Given the description of an element on the screen output the (x, y) to click on. 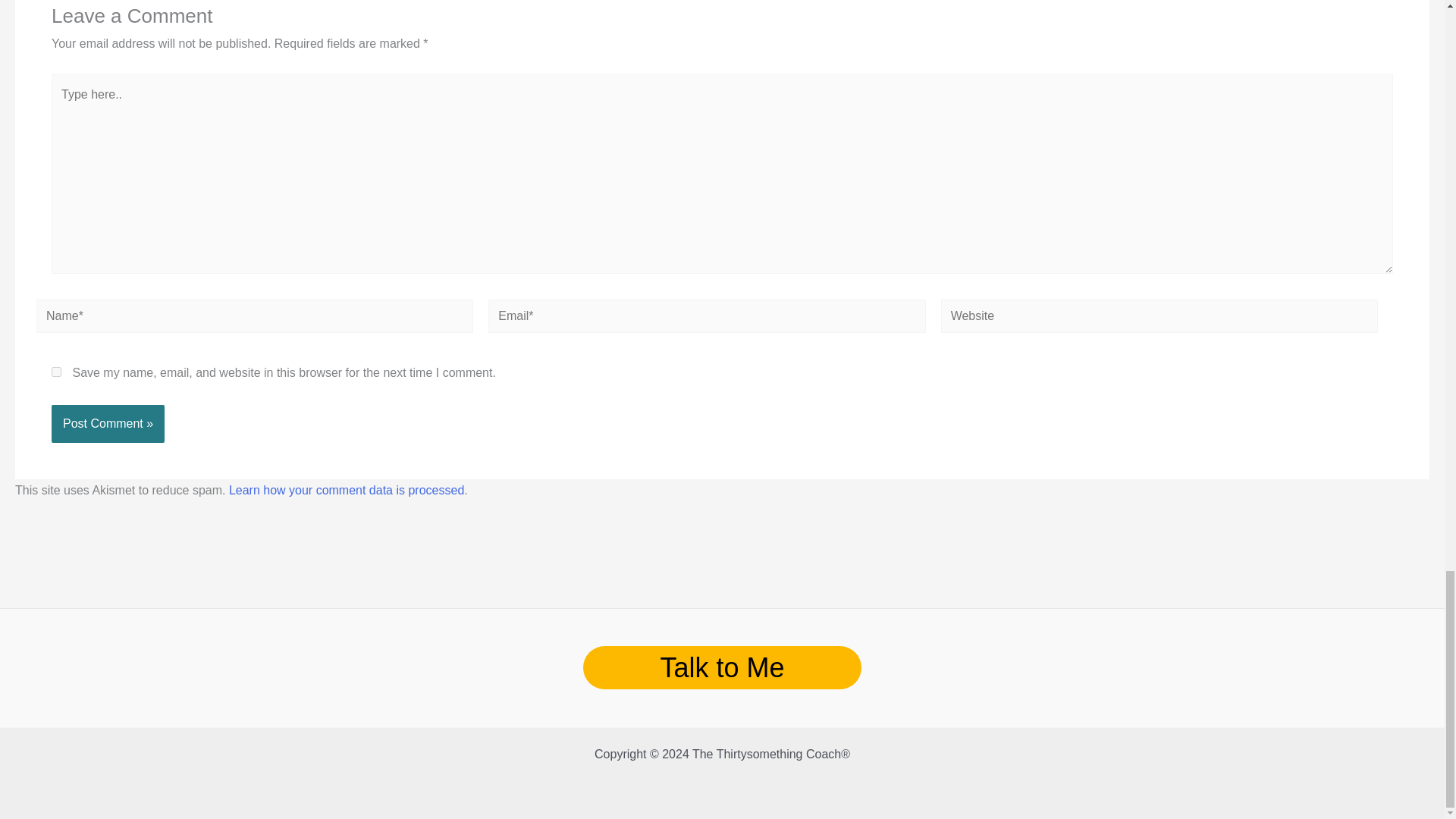
yes (55, 371)
